Given the description of an element on the screen output the (x, y) to click on. 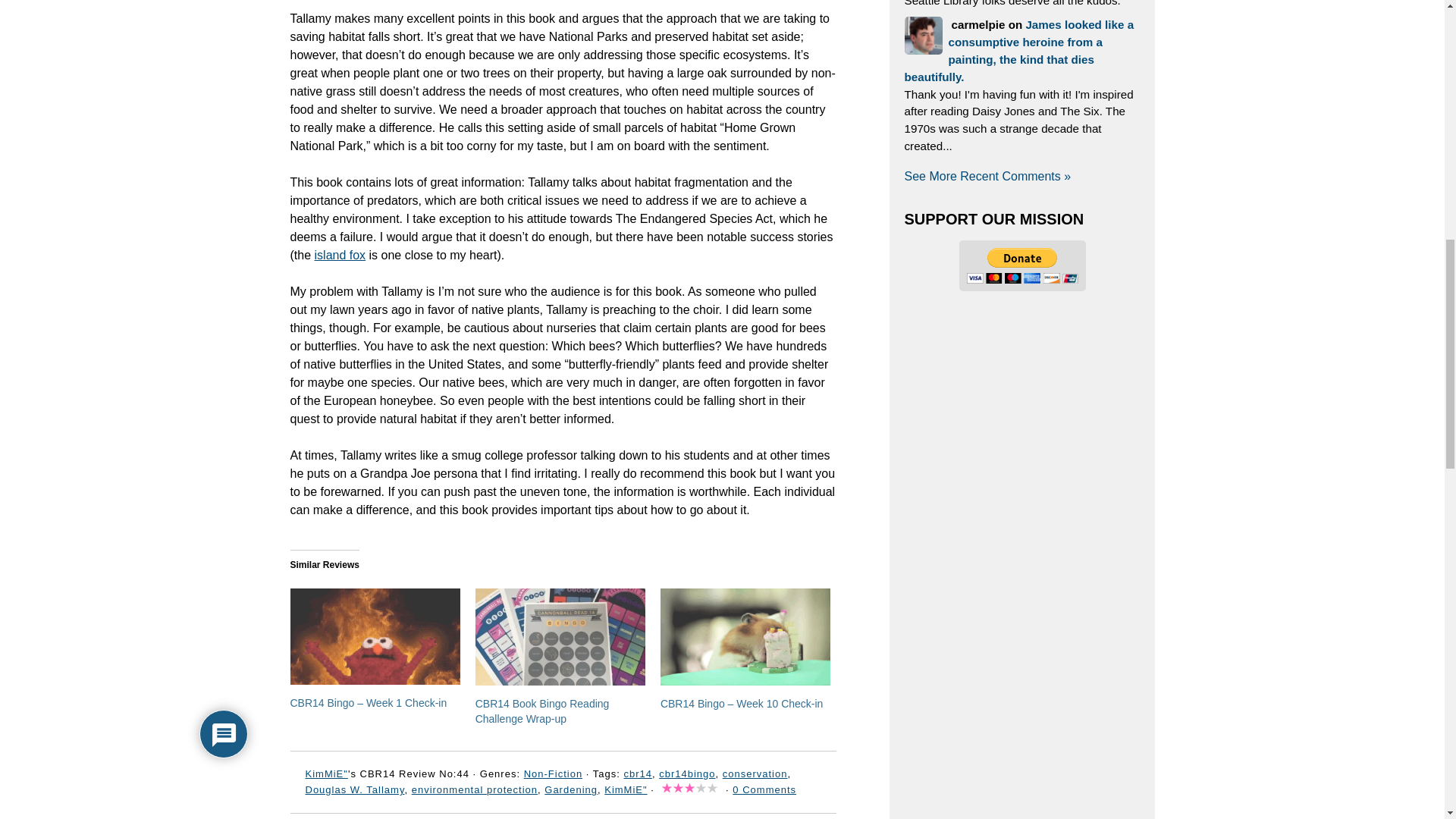
CBR14 Book Bingo Reading Challenge Wrap-up (560, 636)
CBR14 Book Bingo Reading Challenge Wrap-up (543, 710)
3 out of 5 stars (689, 789)
